Given the description of an element on the screen output the (x, y) to click on. 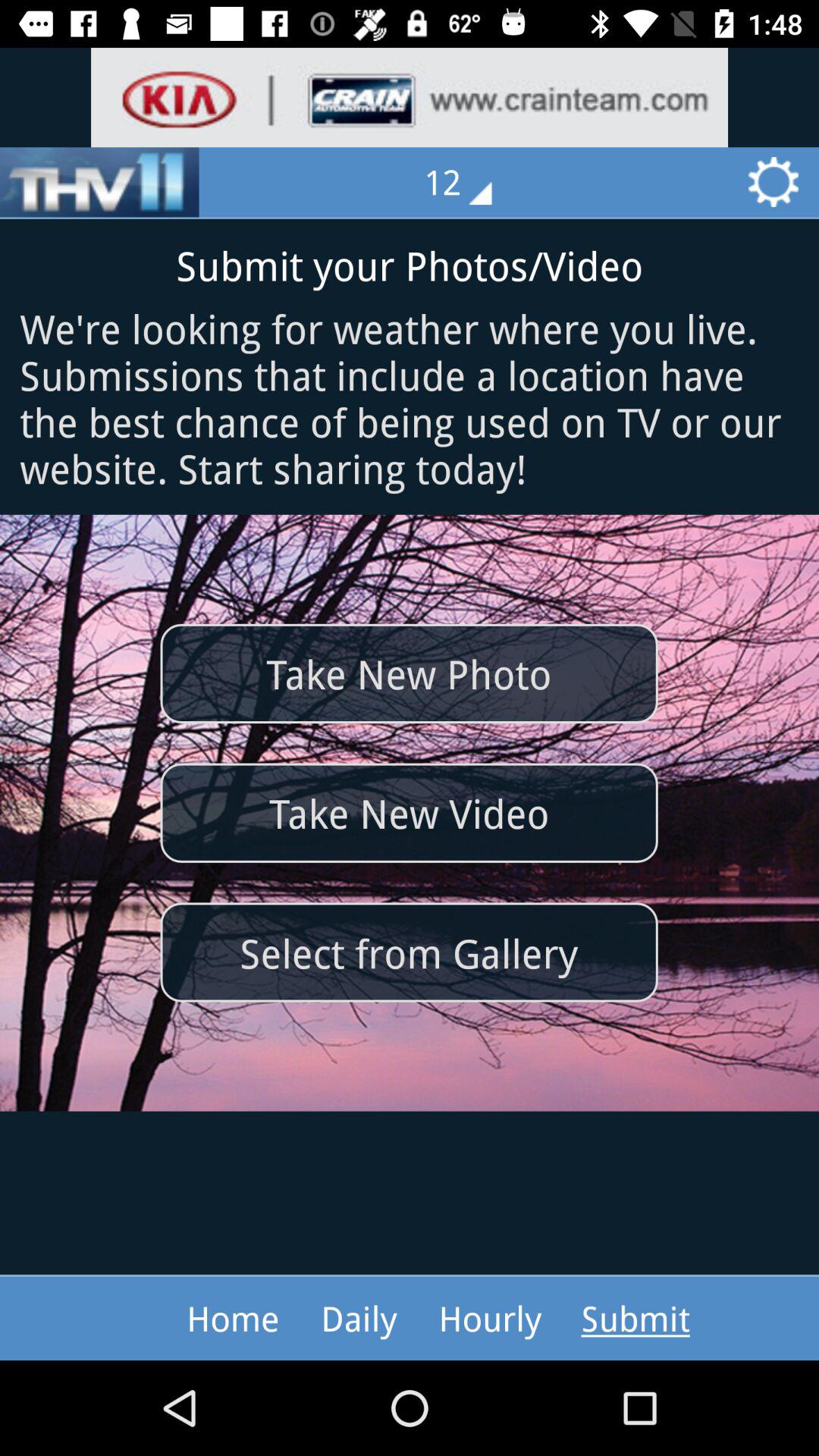
an internet add (409, 97)
